Given the description of an element on the screen output the (x, y) to click on. 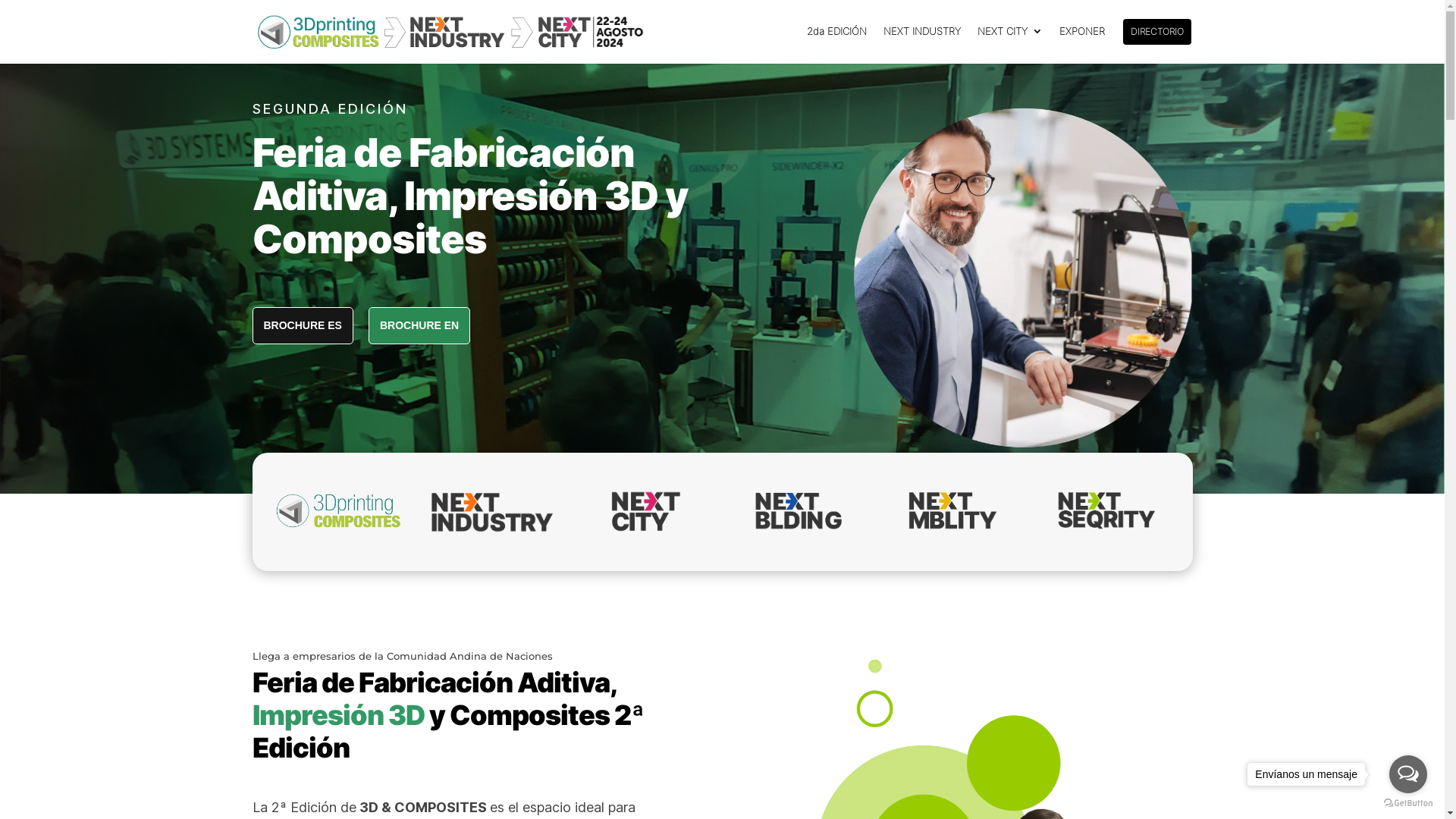
NEXT INDUSTRY Element type: text (921, 43)
LOGO NEXT INDUSTRY Element type: hover (491, 511)
DIRECTORIO Element type: text (1156, 40)
NEXT MBLITY Element type: hover (952, 510)
Logo 3D Composites Element type: hover (337, 510)
NEXT CITY Element type: text (1008, 43)
Mesa de trabajo4 Element type: hover (1019, 278)
NEXT SEQRITY Element type: hover (1106, 509)
BROCHURE ES Element type: text (301, 326)
BROCHURE EN Element type: text (419, 326)
LOGO NEXT CITY Element type: hover (645, 511)
EXPONER Element type: text (1081, 43)
LOGO NEXT BLDING Element type: hover (798, 510)
